Given the description of an element on the screen output the (x, y) to click on. 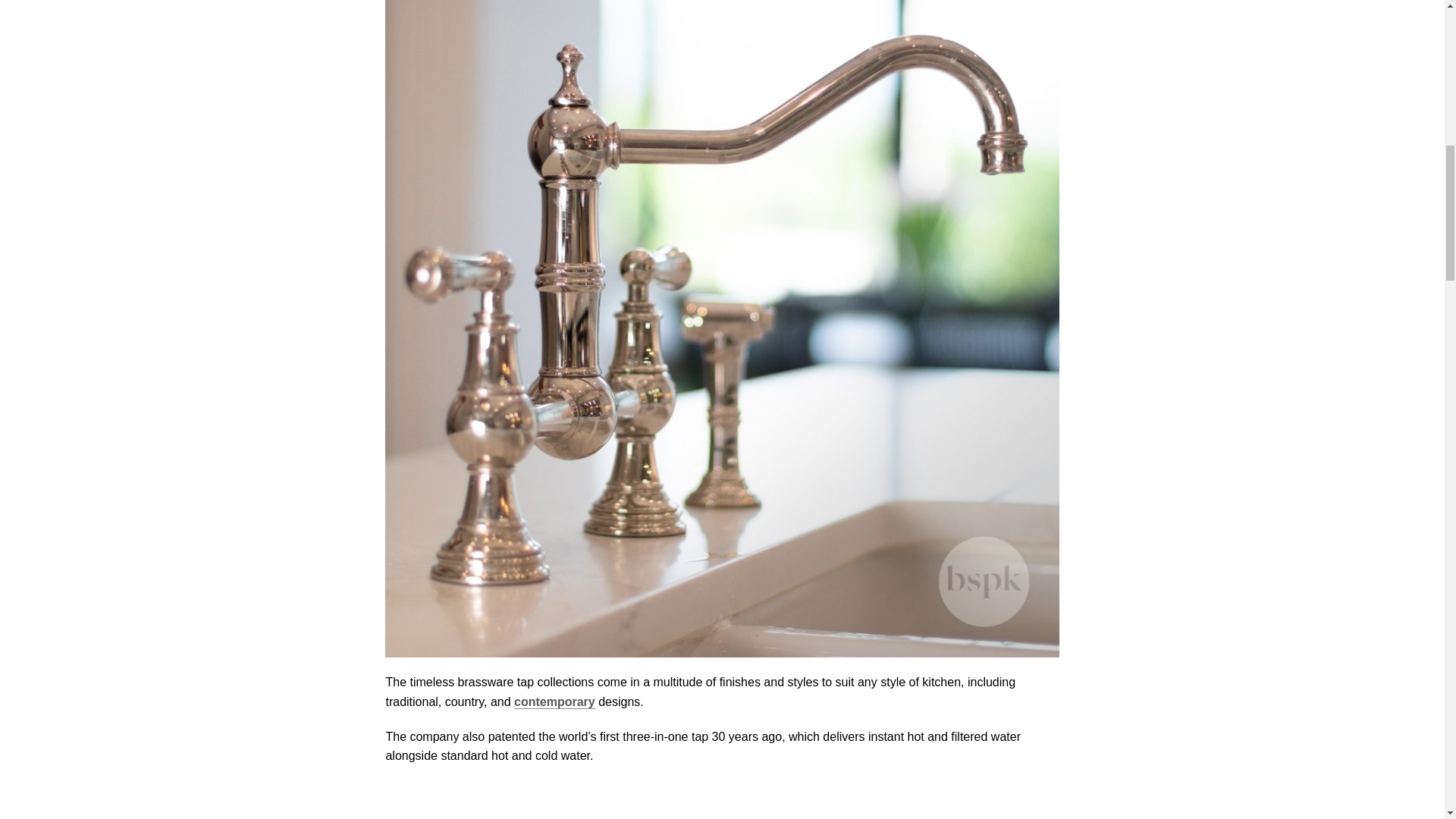
contemporary (554, 702)
